Given the description of an element on the screen output the (x, y) to click on. 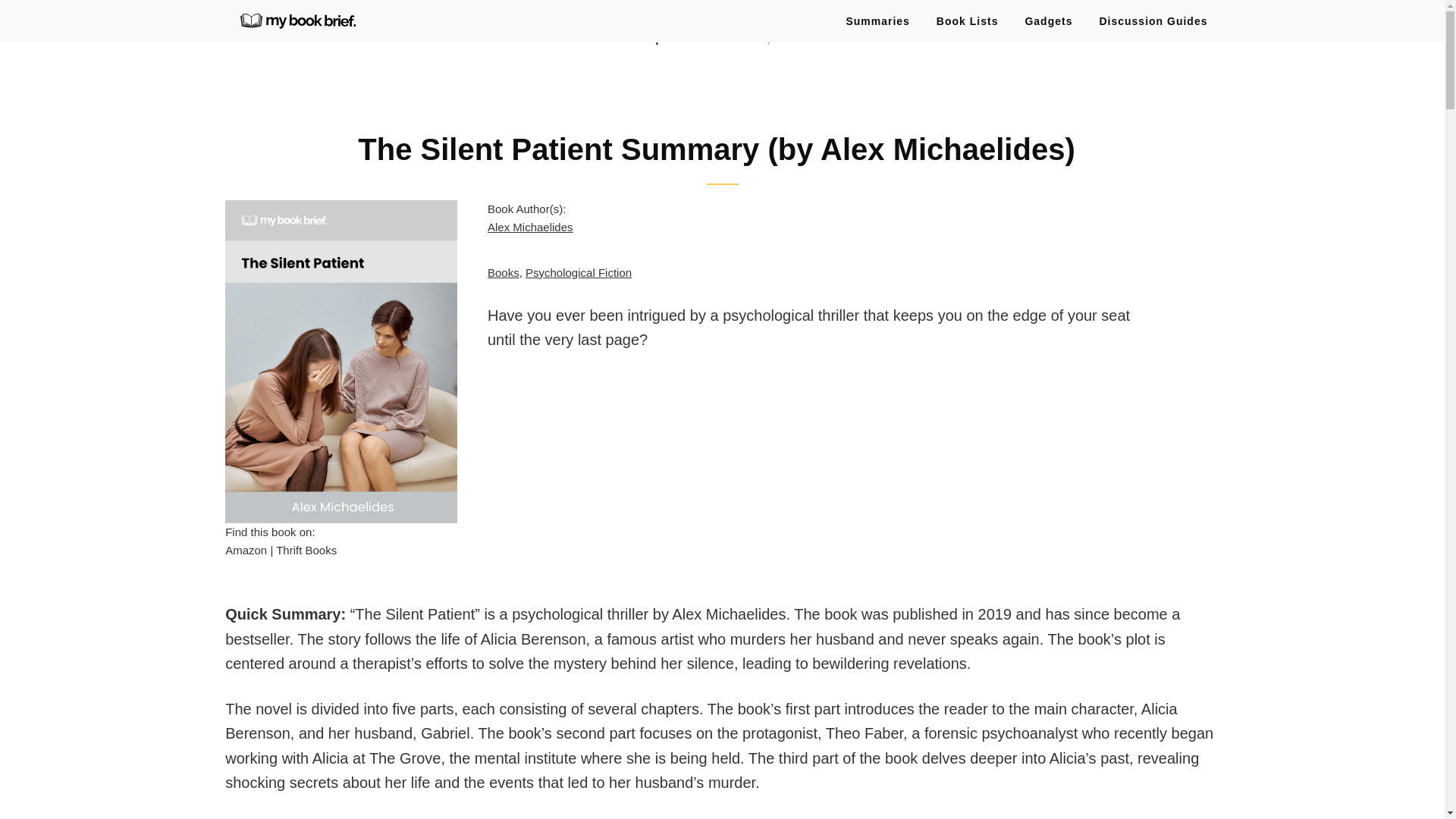
Book Lists (967, 21)
Discussion Guides (1147, 21)
Gadgets (1048, 21)
Alex Michaelides (530, 226)
Summaries (884, 21)
Psychological Fiction (578, 272)
Books (503, 272)
